Given the description of an element on the screen output the (x, y) to click on. 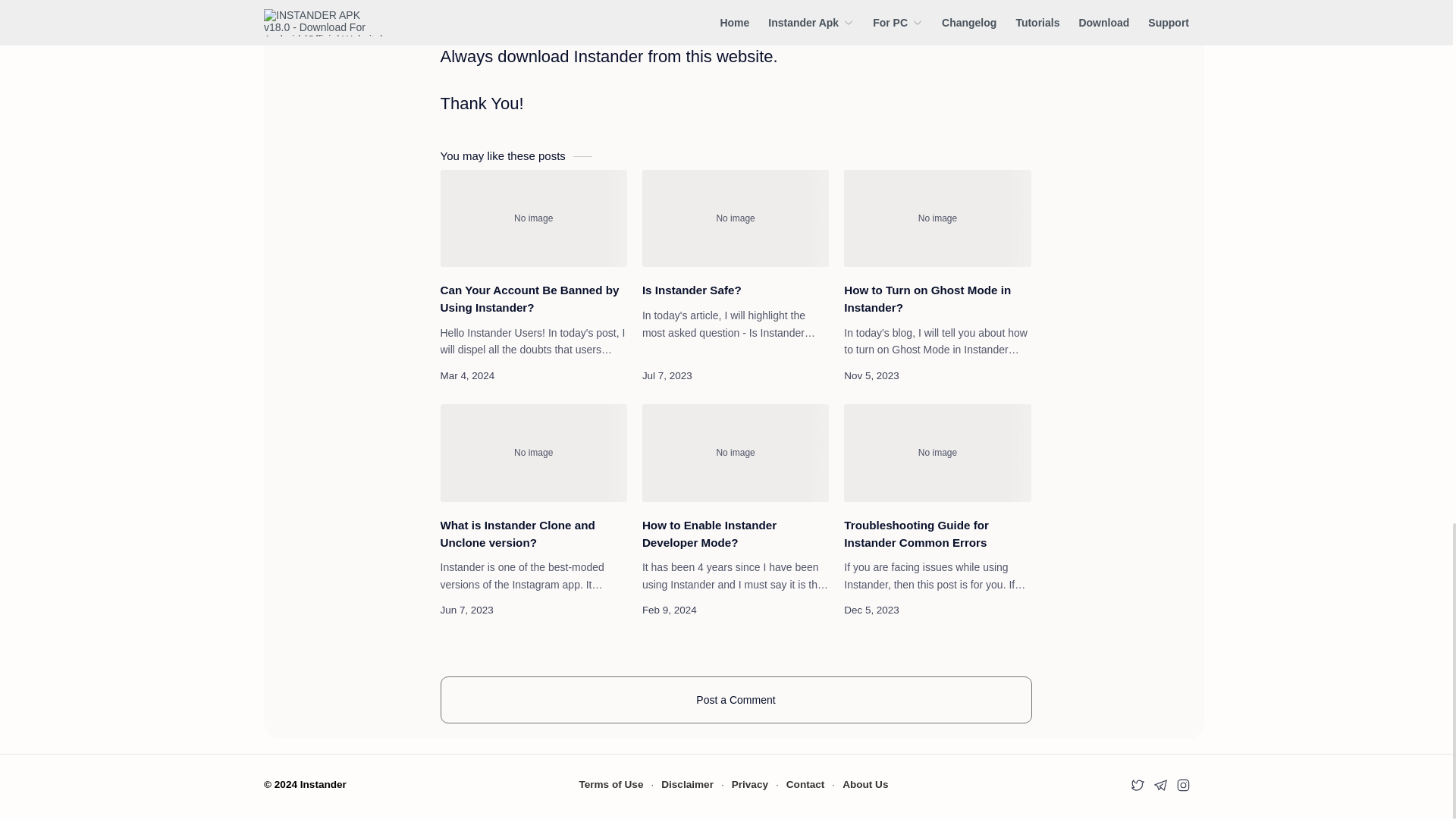
How to Turn on Ghost Mode in Instander? (937, 218)
What is Instander Clone and Unclone version? (532, 534)
Can Your Account Be Banned by Using Instander? (532, 218)
Is Instander Safe? (735, 218)
Troubleshooting Guide for Instander Common Errors (937, 534)
Instander (322, 784)
Troubleshooting Guide for Instander Common Errors (937, 453)
How to Enable Instander Developer Mode? (735, 534)
Terms of Use (610, 784)
How to Turn on Ghost Mode in Instander? (937, 298)
Is Instander Safe? (735, 290)
Disclaimer (687, 784)
Can Your Account Be Banned by Using Instander? (532, 298)
How to Enable Instander Developer Mode? (735, 453)
Privacy (750, 784)
